Given the description of an element on the screen output the (x, y) to click on. 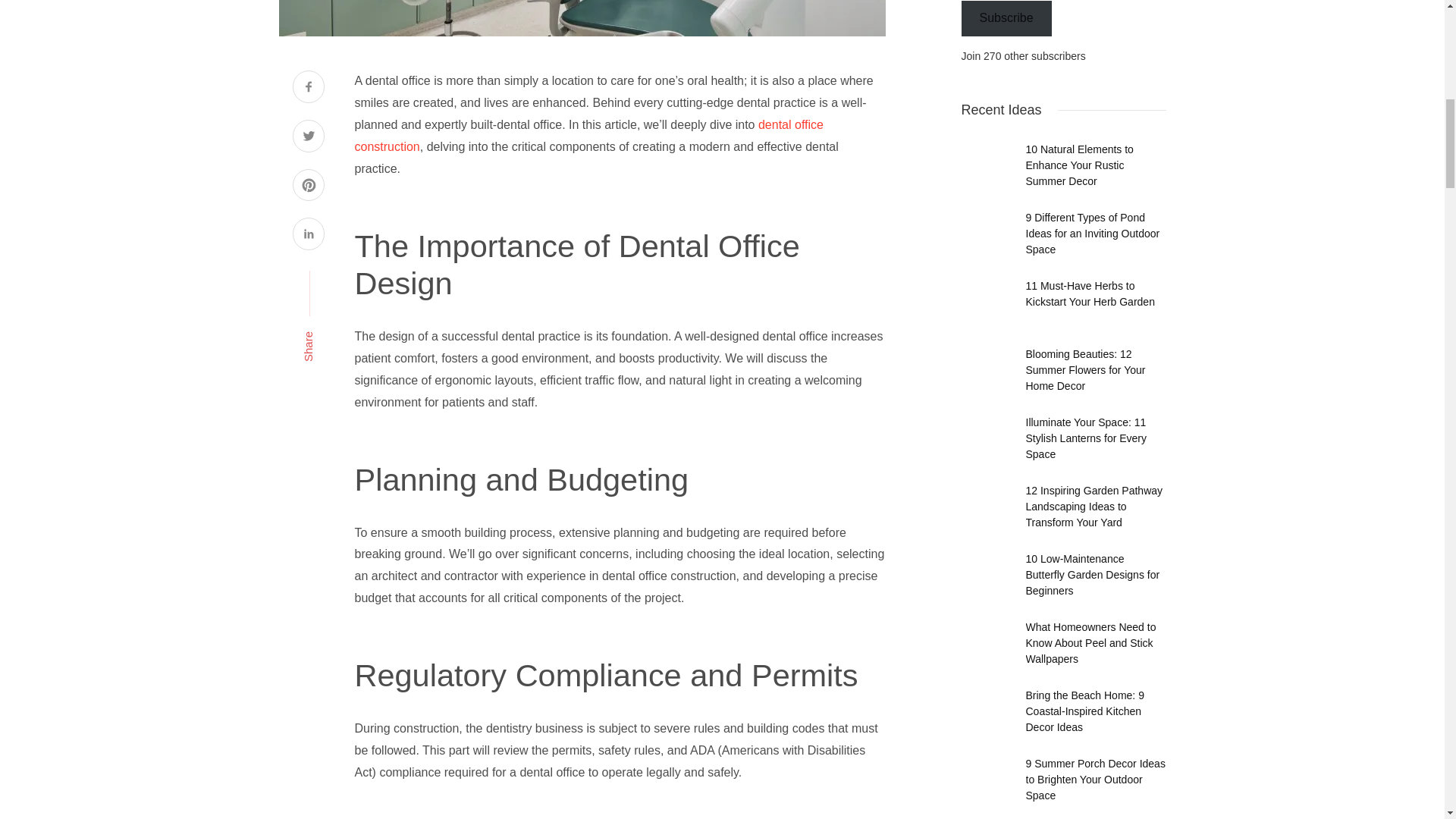
dental office construction (589, 135)
Share on Facebook (308, 88)
Share on Pinterest (308, 186)
Share on Twitter (308, 137)
Share on Linkedin (308, 235)
